Given the description of an element on the screen output the (x, y) to click on. 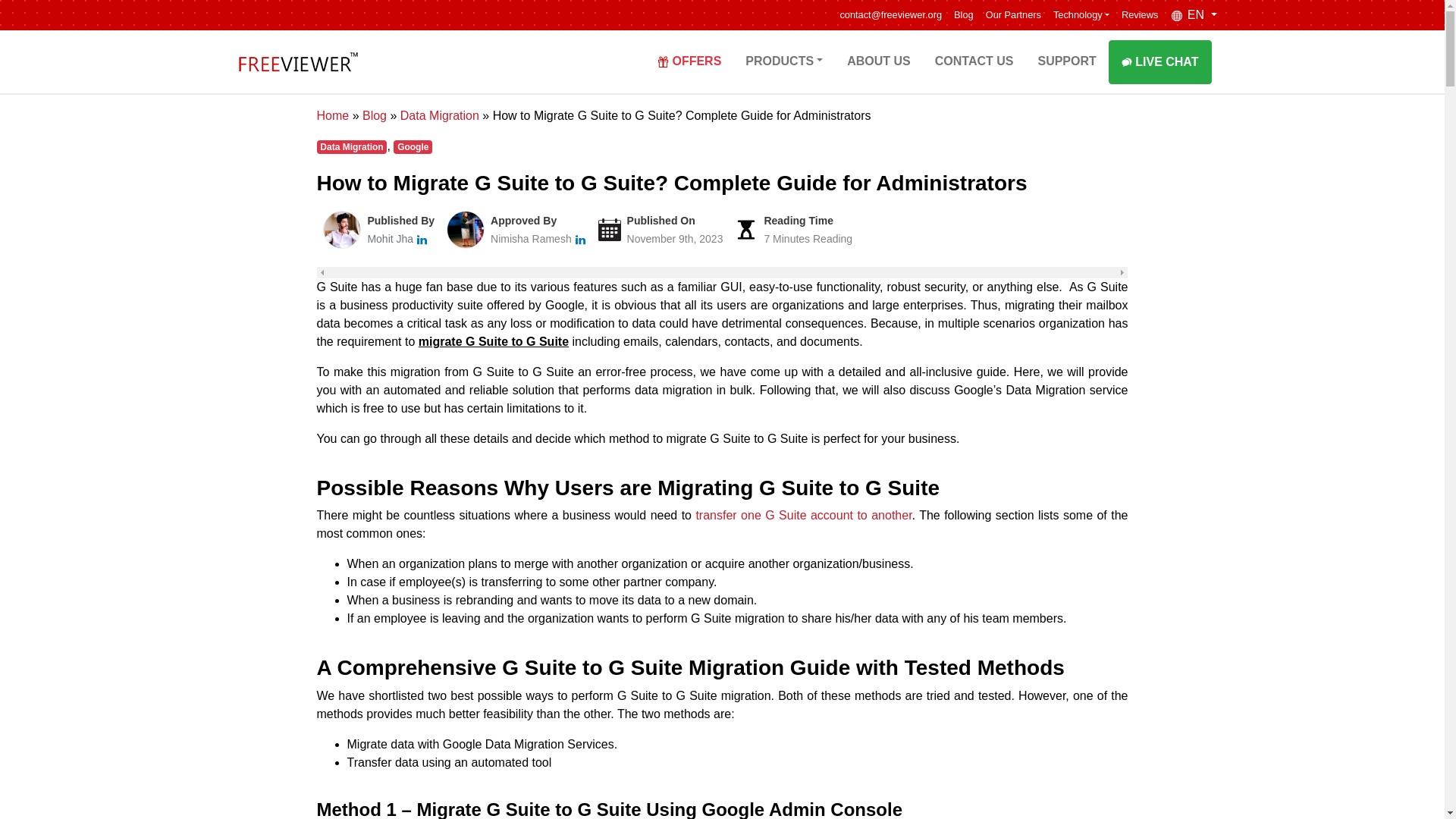
ABOUT US (878, 60)
Technology (1080, 15)
 EN (1193, 15)
Our Partners (1012, 15)
 LIVE CHAT (1159, 61)
Blog (963, 15)
OFFERS (689, 60)
CONTACT US (974, 60)
SUPPORT (1066, 60)
PRODUCTS (783, 60)
Reviews (1139, 15)
